Given the description of an element on the screen output the (x, y) to click on. 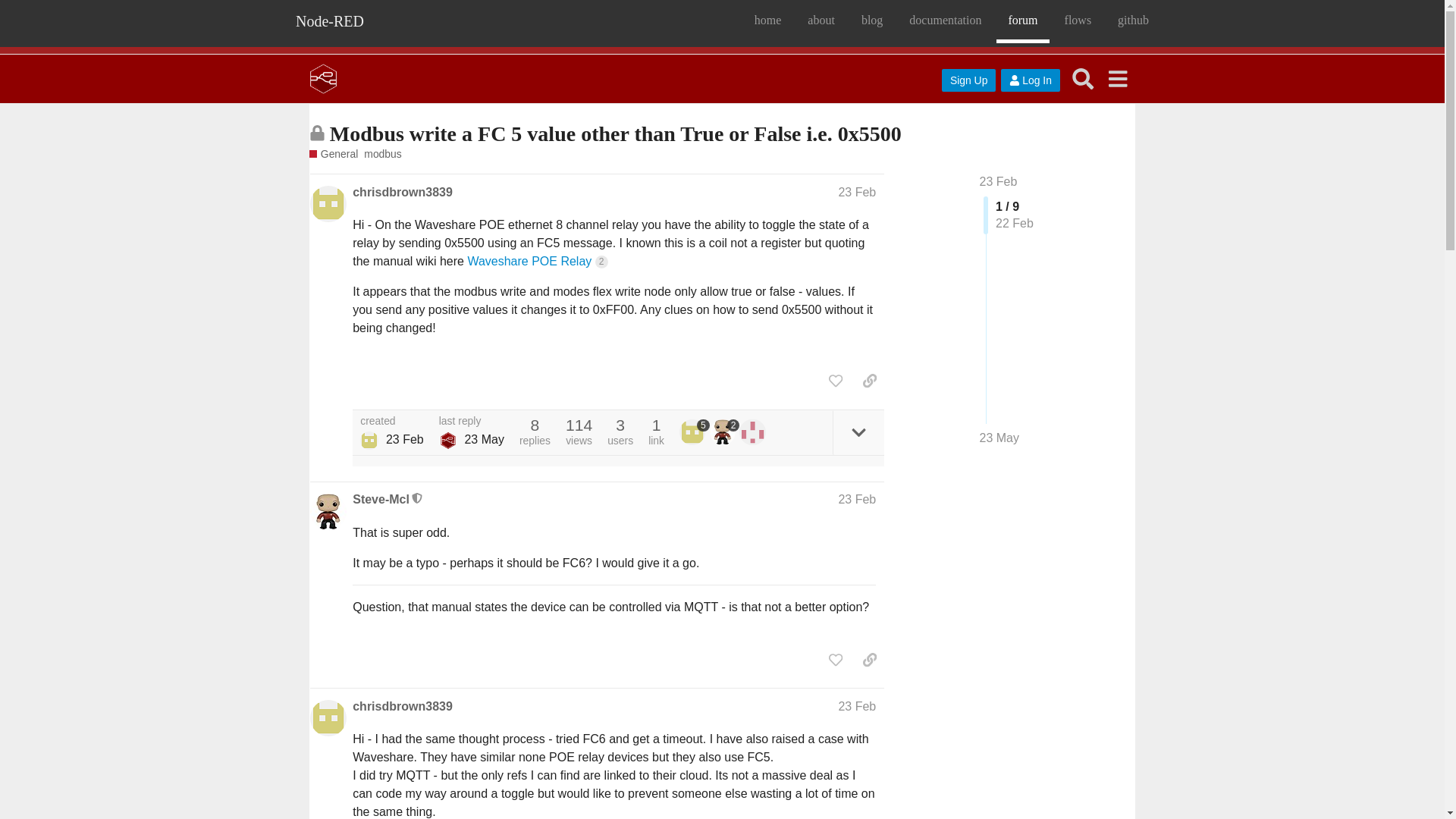
23 May (999, 437)
Node-RED (329, 23)
expand topic details (857, 432)
like this post (835, 380)
Steve-Mcl (380, 499)
23 Feb (998, 181)
Search (1082, 78)
copy a link to this post to clipboard (869, 380)
This topic is closed; it no longer accepts new replies (316, 132)
2 clicks (601, 261)
Waveshare POE Relay 2 (537, 260)
chrisdbrown3839 (402, 192)
Post date (857, 192)
about (820, 22)
